Given the description of an element on the screen output the (x, y) to click on. 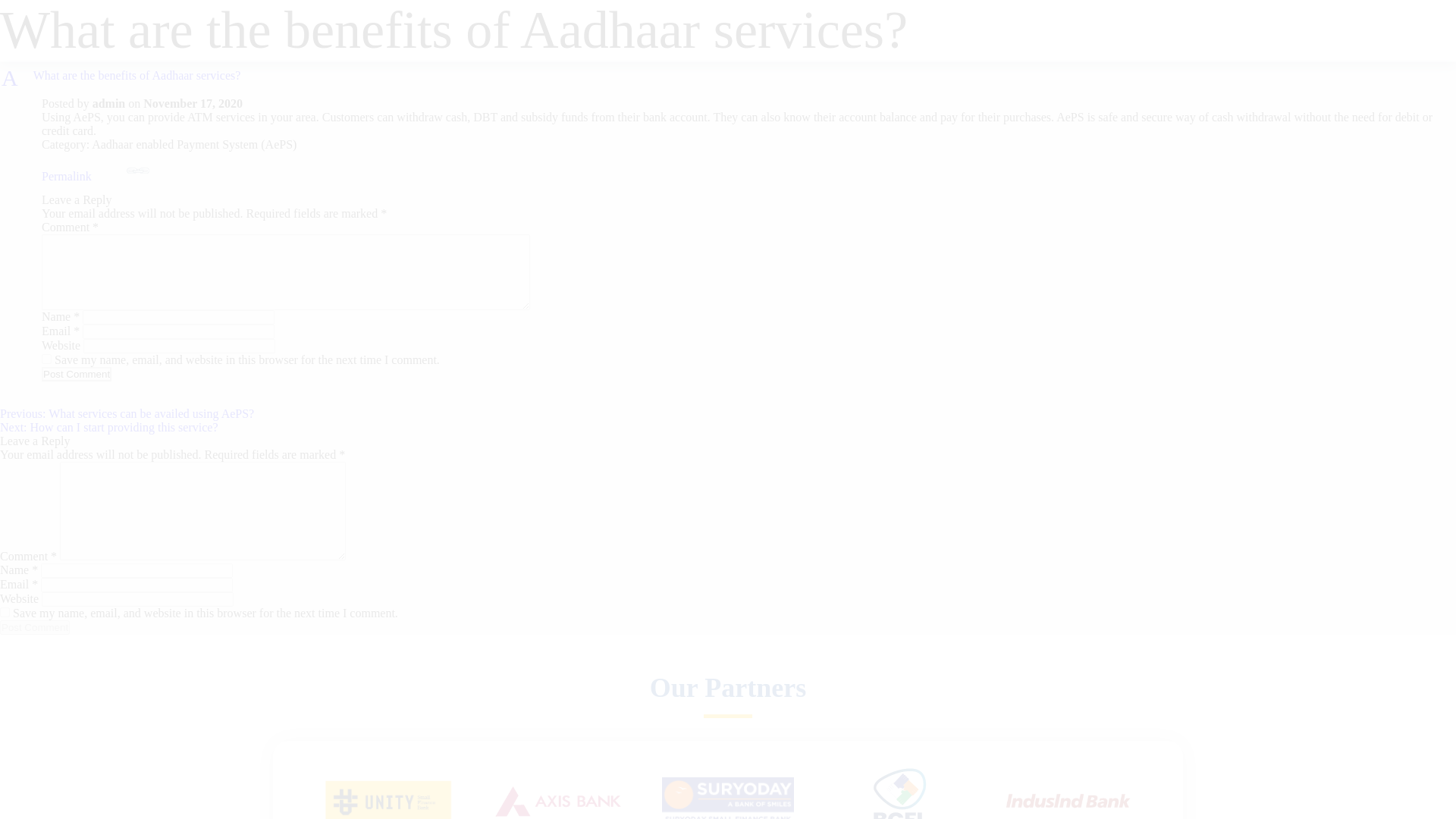
Post Comment (34, 626)
yes (5, 612)
Permalink (739, 170)
Post Comment (77, 373)
Next: How can I start providing this service? (108, 427)
yes (46, 358)
Post Comment (34, 626)
Indradhanush Club (919, 31)
Post Comment (77, 373)
Case Studies (831, 31)
